Given the description of an element on the screen output the (x, y) to click on. 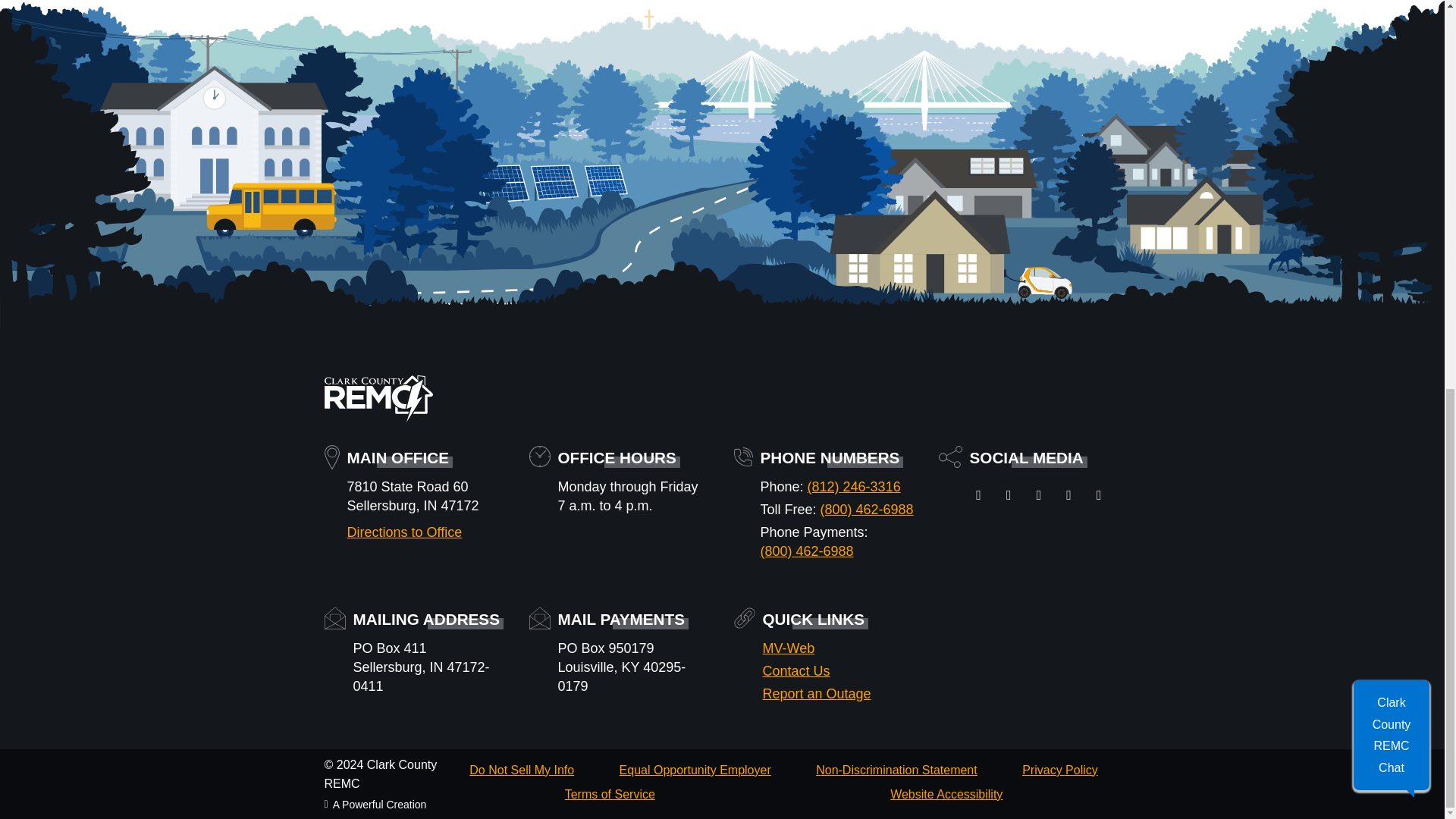
Follow on Facebook (982, 494)
Follow on YouTube (1102, 494)
Follow on Twitter (1043, 494)
Follow on LinkedIn (1072, 494)
Follow on Instagram (1012, 494)
